Given the description of an element on the screen output the (x, y) to click on. 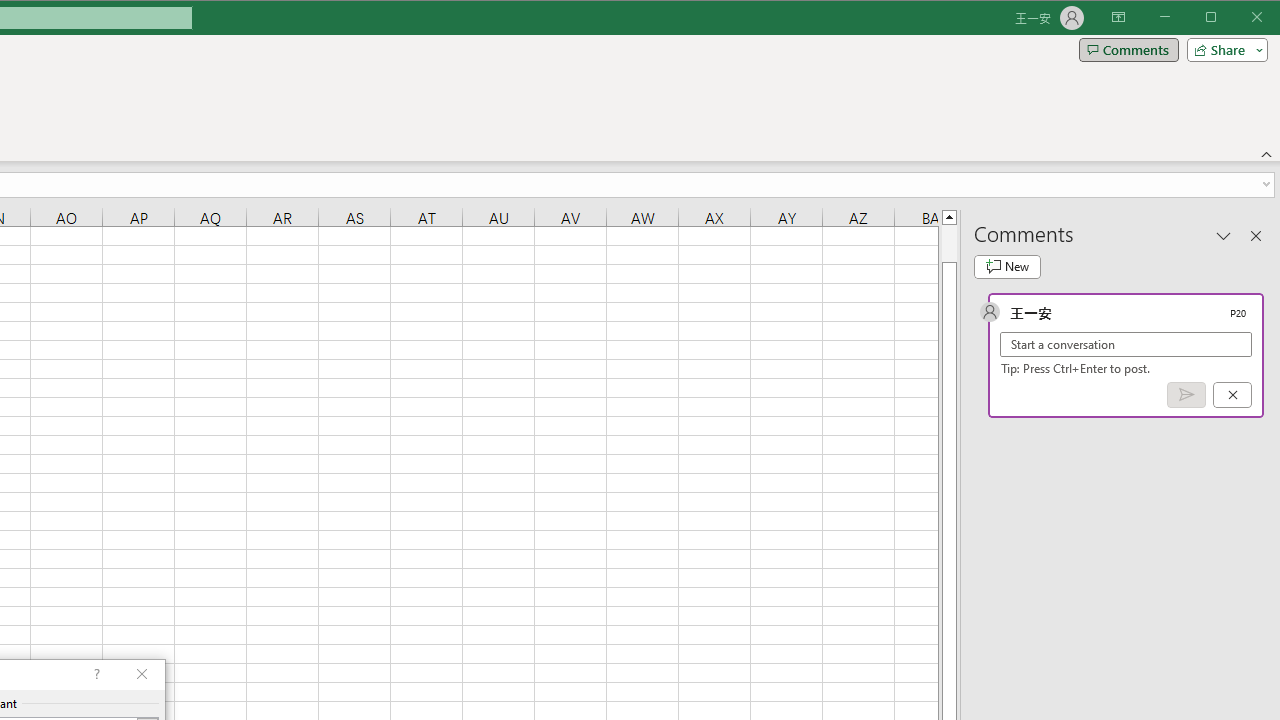
Start a conversation (1126, 344)
Post comment (Ctrl + Enter) (1186, 395)
